Given the description of an element on the screen output the (x, y) to click on. 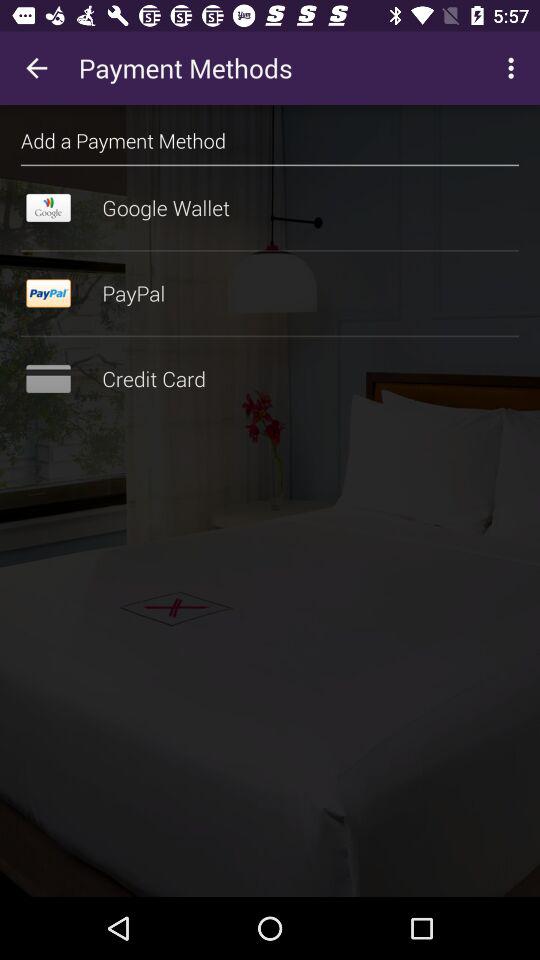
turn on the google wallet (270, 208)
